Given the description of an element on the screen output the (x, y) to click on. 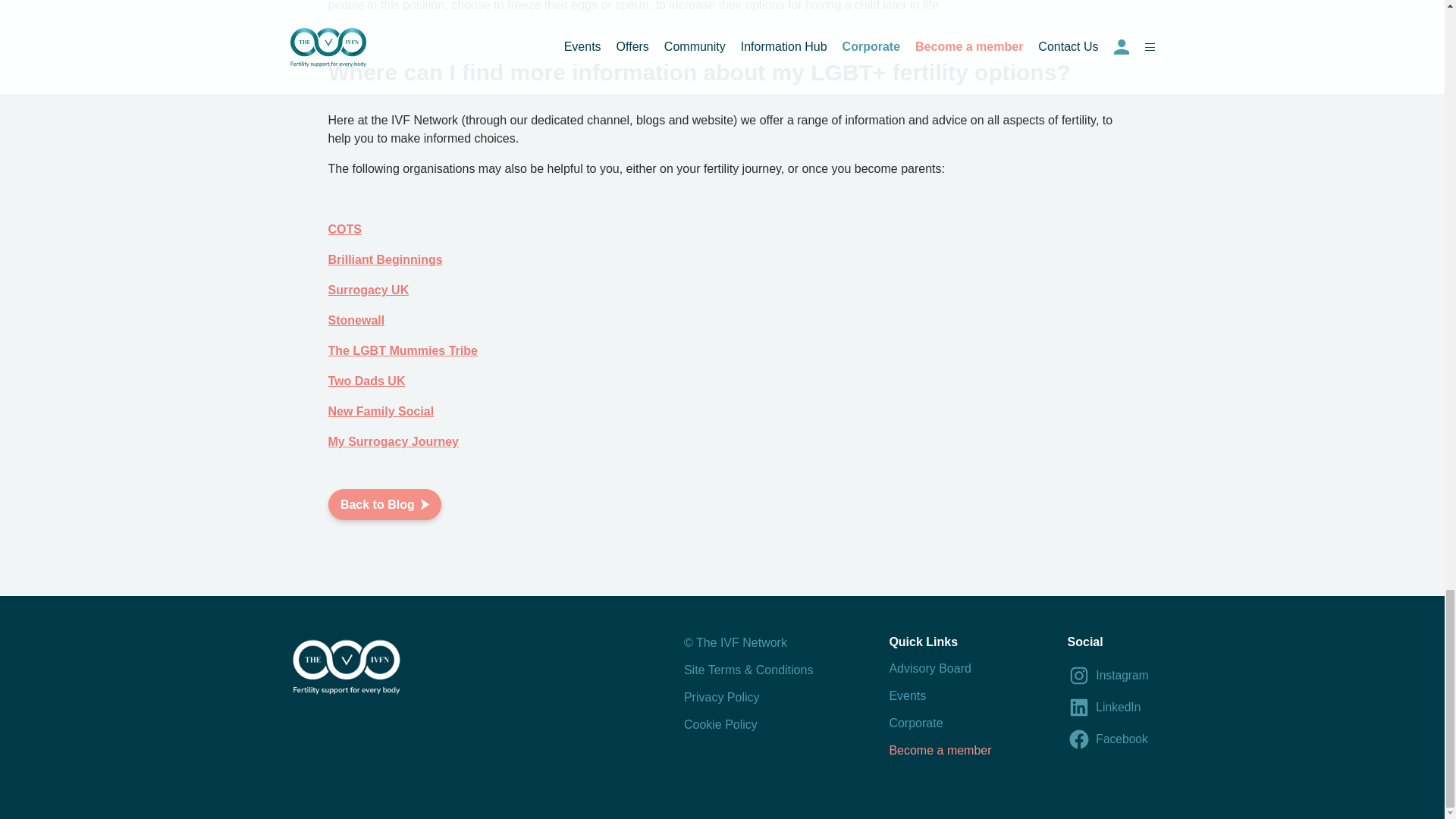
Brilliant Beginnings (384, 259)
COTS (344, 228)
Privacy Policy (722, 697)
Instagram (1110, 675)
Become a member (939, 749)
Stonewall (355, 319)
IVFN (344, 669)
Events (907, 695)
Back to Blog (384, 504)
Facebook (1110, 739)
LinkedIn (1107, 707)
Advisory Board (929, 667)
Cookie Policy (720, 724)
Corporate (915, 722)
Surrogacy UK (368, 289)
